Given the description of an element on the screen output the (x, y) to click on. 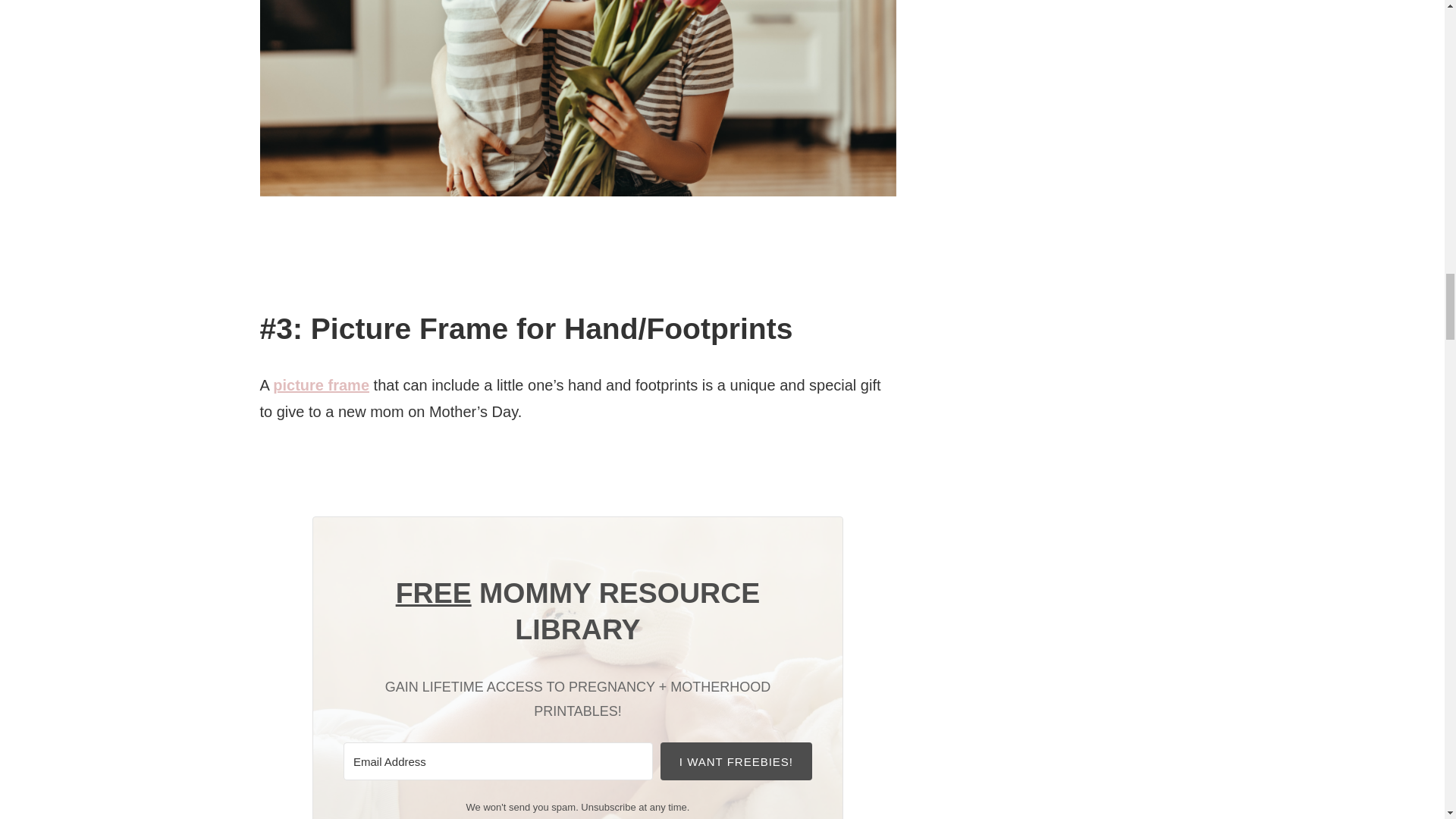
picture frame (321, 384)
I WANT FREEBIES! (736, 761)
